Given the description of an element on the screen output the (x, y) to click on. 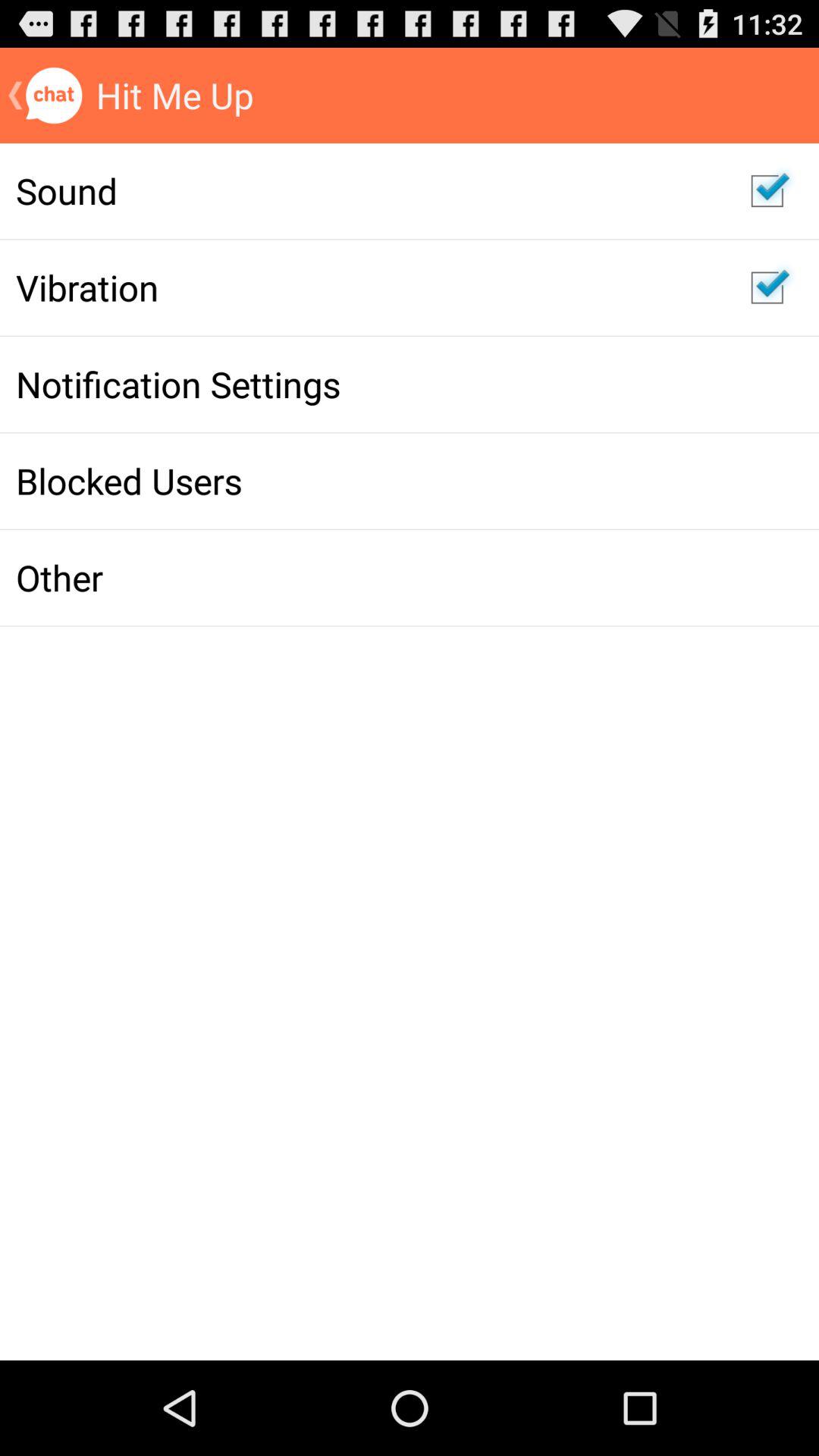
click the item above the notification settings item (367, 287)
